Given the description of an element on the screen output the (x, y) to click on. 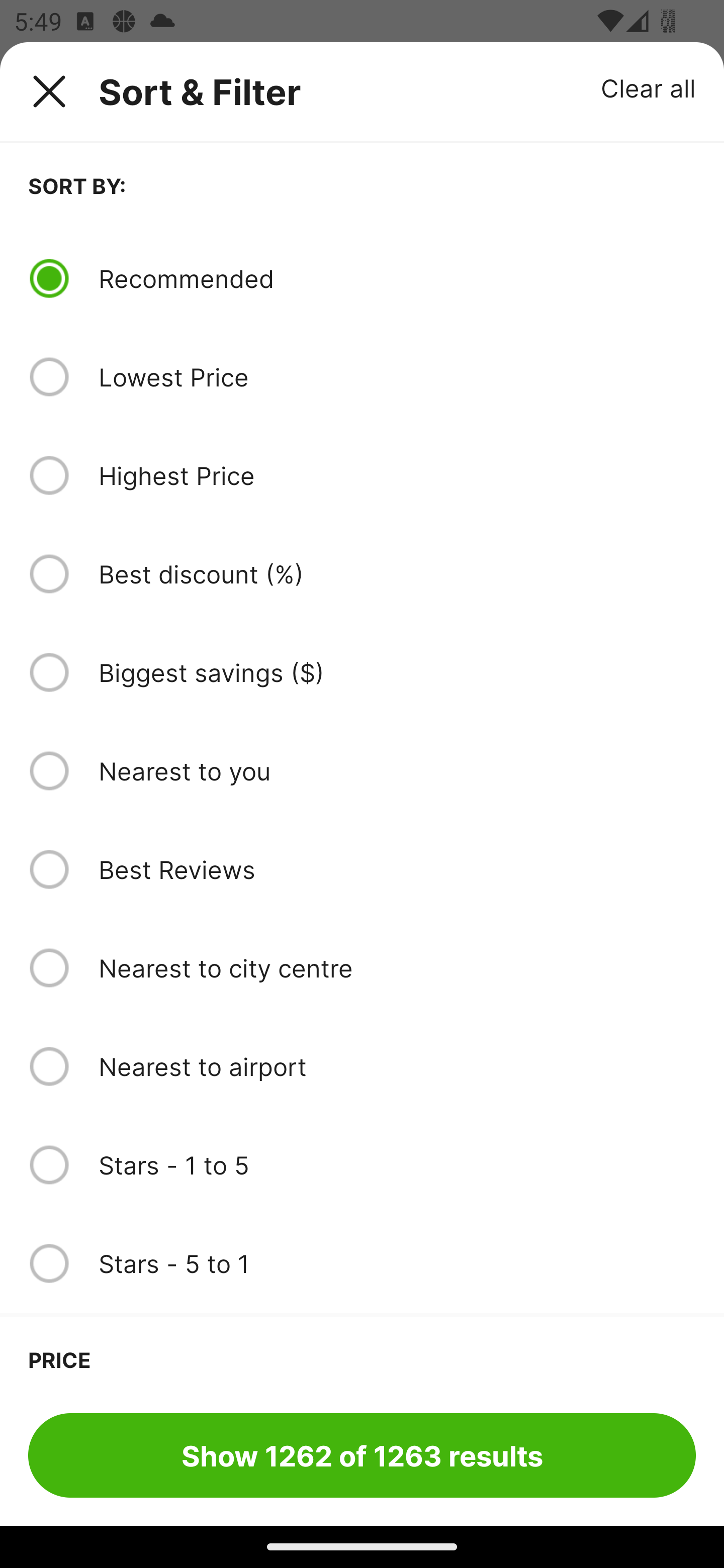
Clear all (648, 87)
Recommended  (396, 278)
Lowest Price (396, 377)
Highest Price (396, 474)
Best discount (%) (396, 573)
Biggest savings ($) (396, 672)
Nearest to you (396, 770)
Best Reviews (396, 869)
Nearest to city centre (396, 968)
Nearest to airport (396, 1065)
Stars - 1 to 5 (396, 1164)
Stars - 5 to 1 (396, 1263)
Show 1262 of 1263 results (361, 1454)
